Given the description of an element on the screen output the (x, y) to click on. 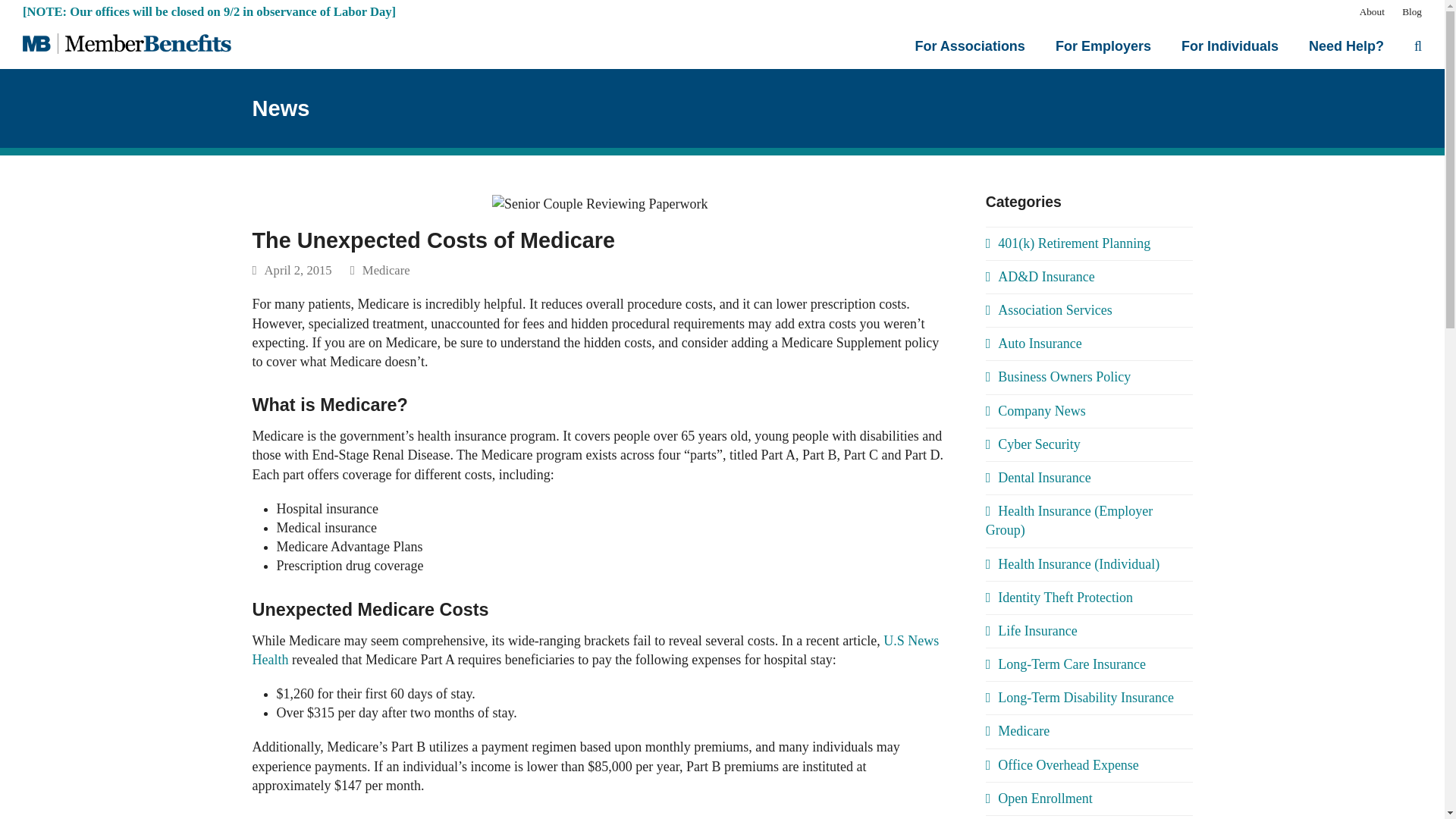
About (1371, 11)
U.S News Health (595, 650)
Blog (1412, 11)
Need Help? (1345, 46)
For Employers (1102, 46)
Medicare (386, 269)
For Individuals (1229, 46)
For Associations (970, 46)
